Given the description of an element on the screen output the (x, y) to click on. 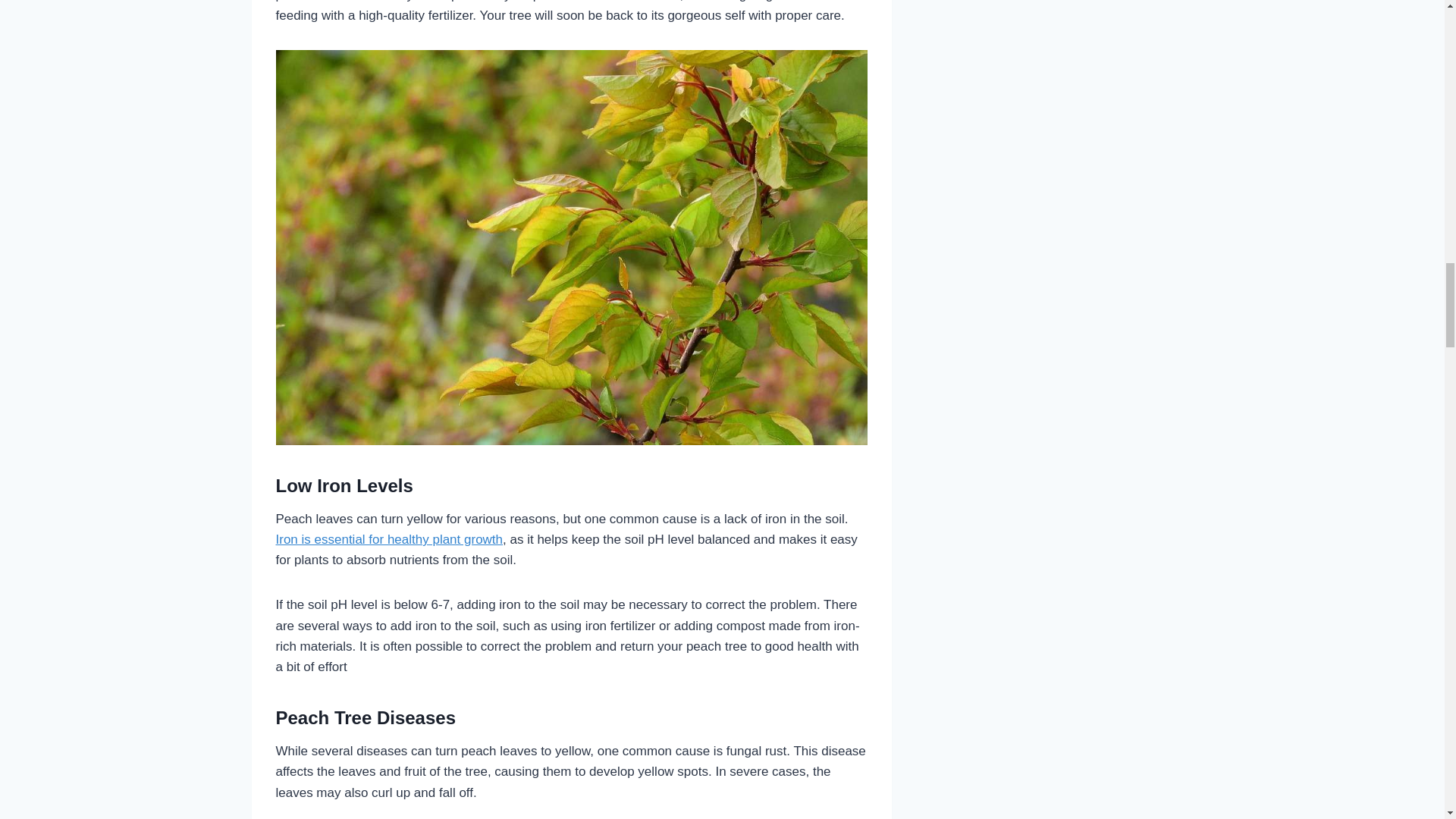
Iron is essential for healthy plant growth (389, 539)
